Given the description of an element on the screen output the (x, y) to click on. 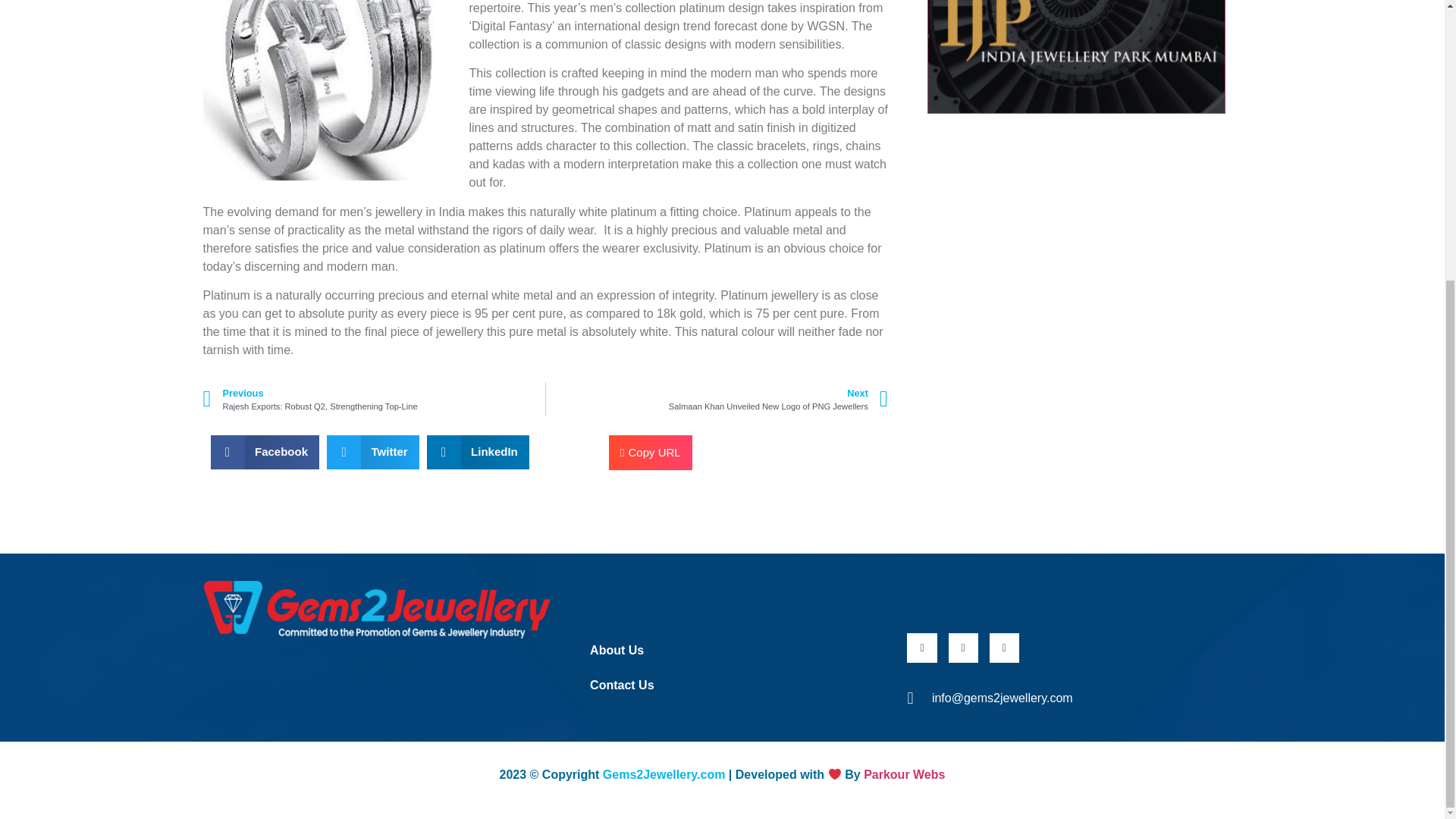
Contact Us (728, 685)
About Us (717, 399)
Copy URL (373, 399)
Parkour Webs (728, 650)
